Given the description of an element on the screen output the (x, y) to click on. 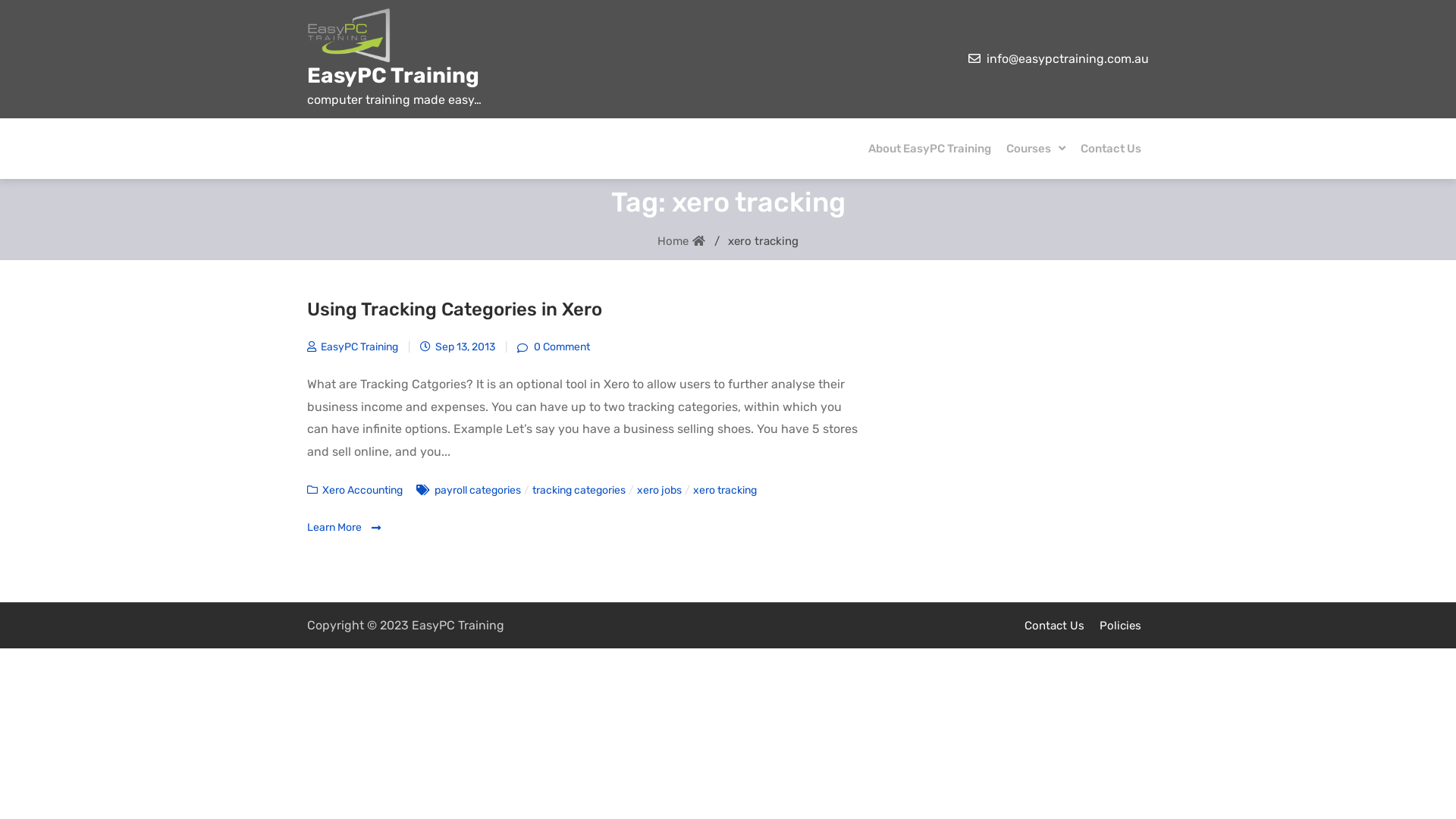
Contact Us Element type: text (1054, 625)
Xero Accounting Element type: text (362, 489)
Skip to content Element type: text (0, 0)
Learn More Element type: text (343, 527)
Home Element type: text (692, 240)
About EasyPC Training Element type: text (929, 148)
Using Tracking Categories in Xero Element type: text (454, 309)
Contact Us Element type: text (1110, 148)
Sep 13, 2013 Element type: text (457, 346)
Policies Element type: text (1120, 625)
Courses Element type: text (1035, 148)
xero jobs Element type: text (659, 489)
0 Comment Element type: text (553, 346)
tracking categories Element type: text (578, 489)
info@easypctraining.com.au Element type: text (1067, 58)
payroll categories Element type: text (477, 489)
EasyPC Training Element type: text (352, 346)
xero tracking Element type: text (724, 489)
EasyPC Training Element type: text (393, 74)
